Given the description of an element on the screen output the (x, y) to click on. 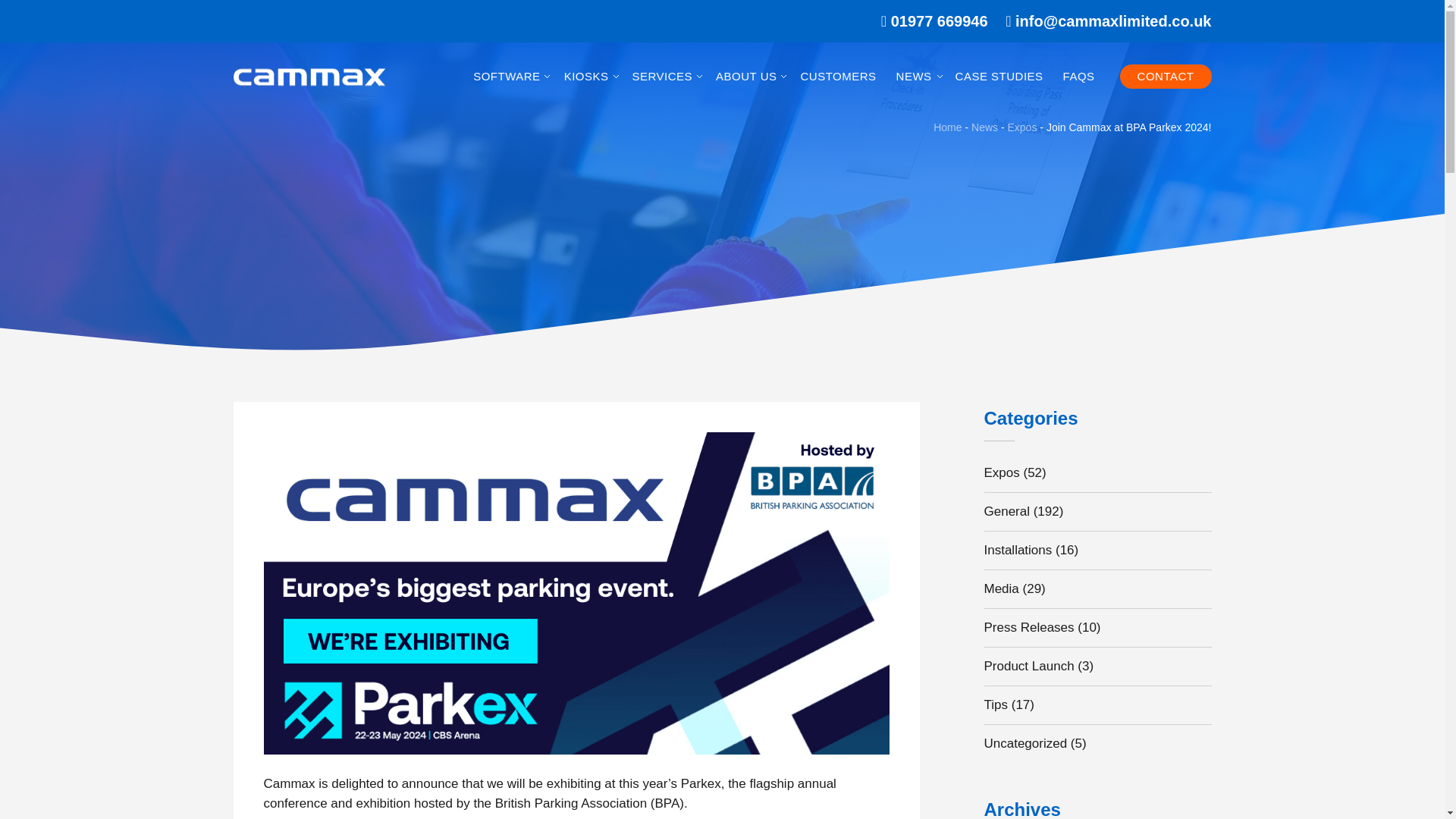
CASE STUDIES (998, 76)
01977 669946 (939, 21)
ABOUT US (748, 76)
KIOSKS (588, 76)
News (984, 127)
CONTACT (1165, 76)
Home (946, 127)
SOFTWARE (508, 76)
Expos (1021, 127)
CUSTOMERS (837, 76)
